Given the description of an element on the screen output the (x, y) to click on. 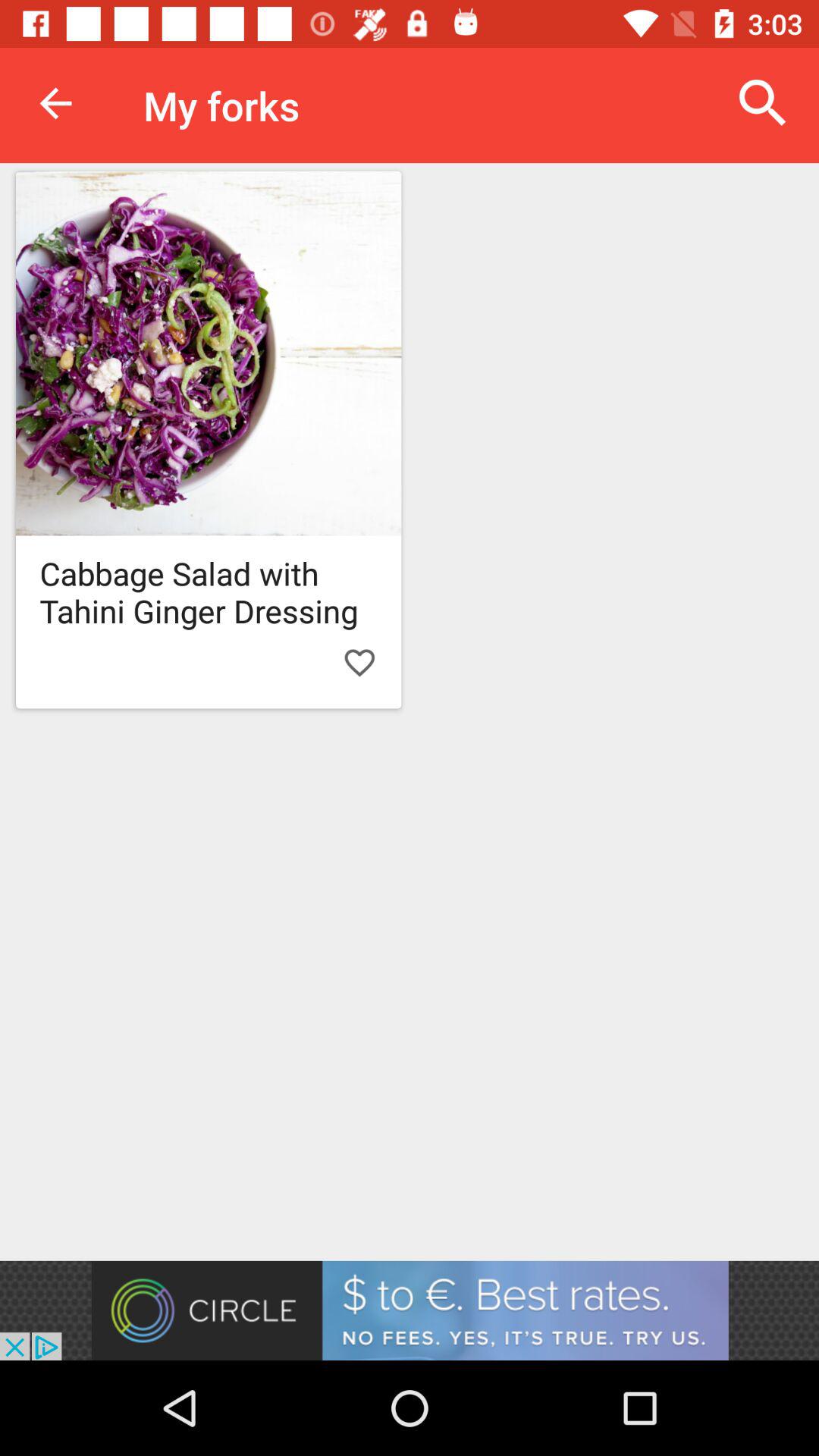
connect to site (409, 1310)
